Given the description of an element on the screen output the (x, y) to click on. 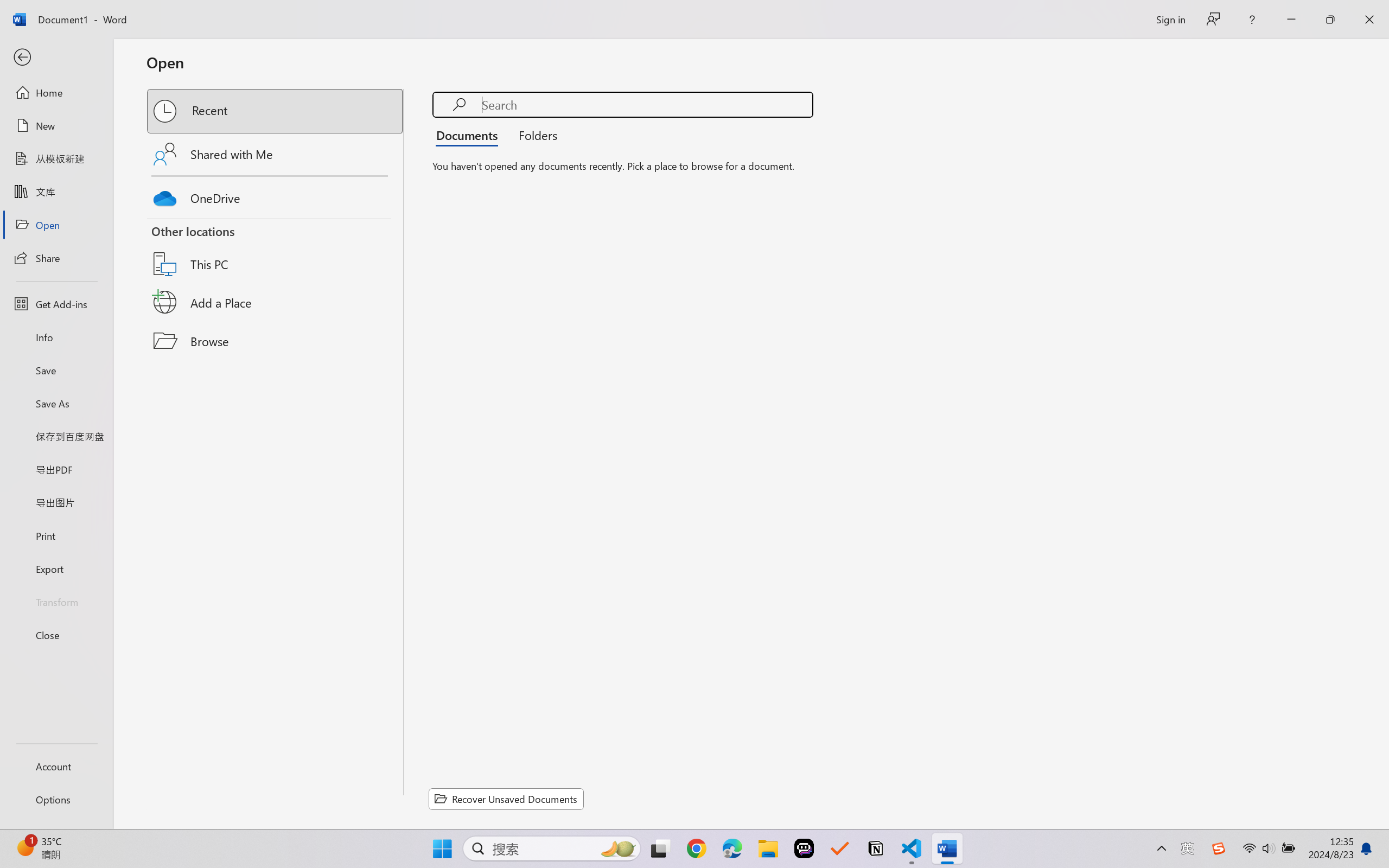
Info (56, 337)
Options (56, 798)
Account (56, 765)
New (56, 125)
Browse (275, 340)
Print (56, 535)
OneDrive (275, 195)
